Given the description of an element on the screen output the (x, y) to click on. 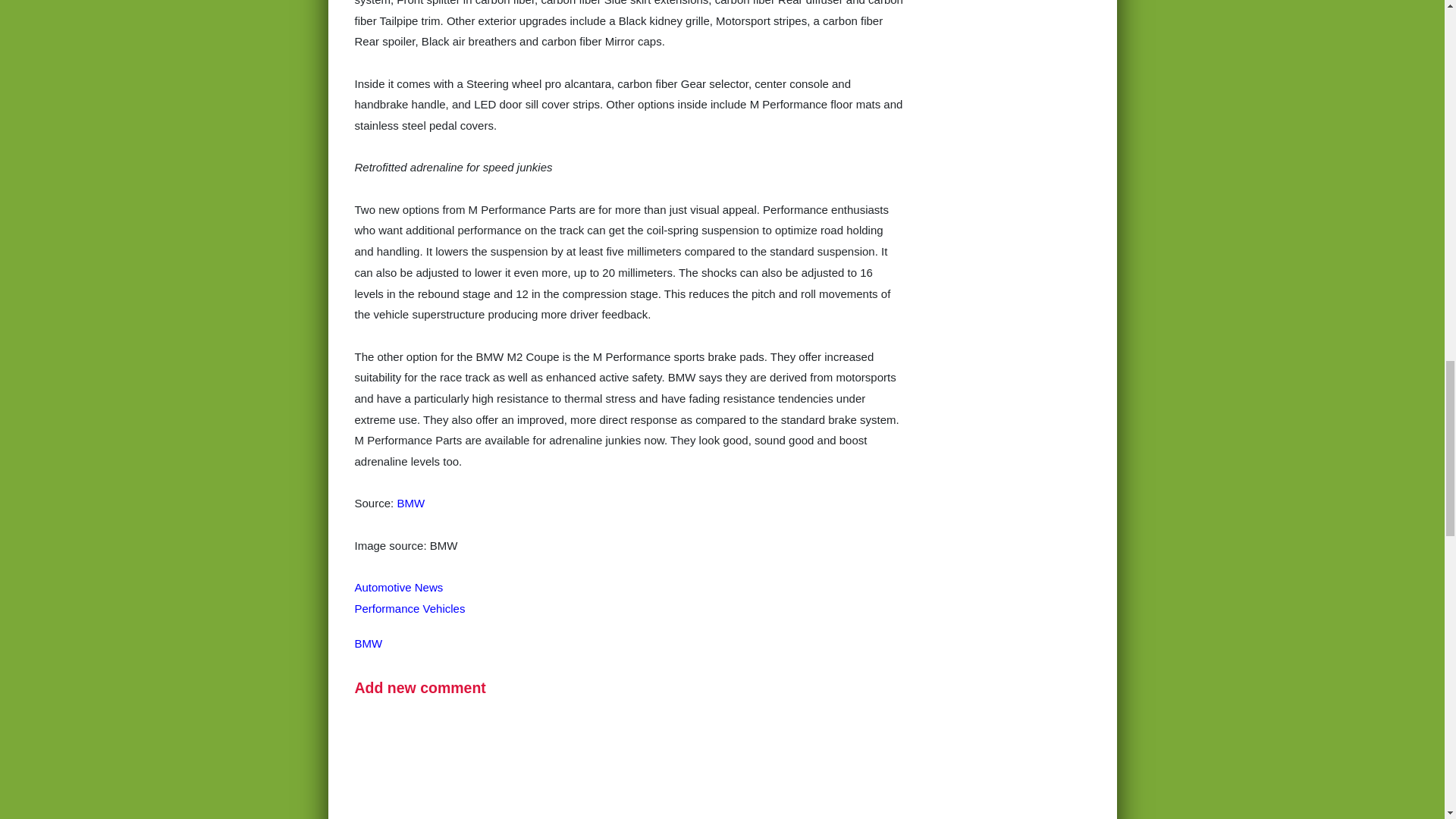
Share your thoughts and opinions. (420, 687)
Performance Vehicles (410, 608)
Automotive News (399, 586)
BMW (410, 502)
BMW (368, 643)
Add new comment (420, 687)
